Given the description of an element on the screen output the (x, y) to click on. 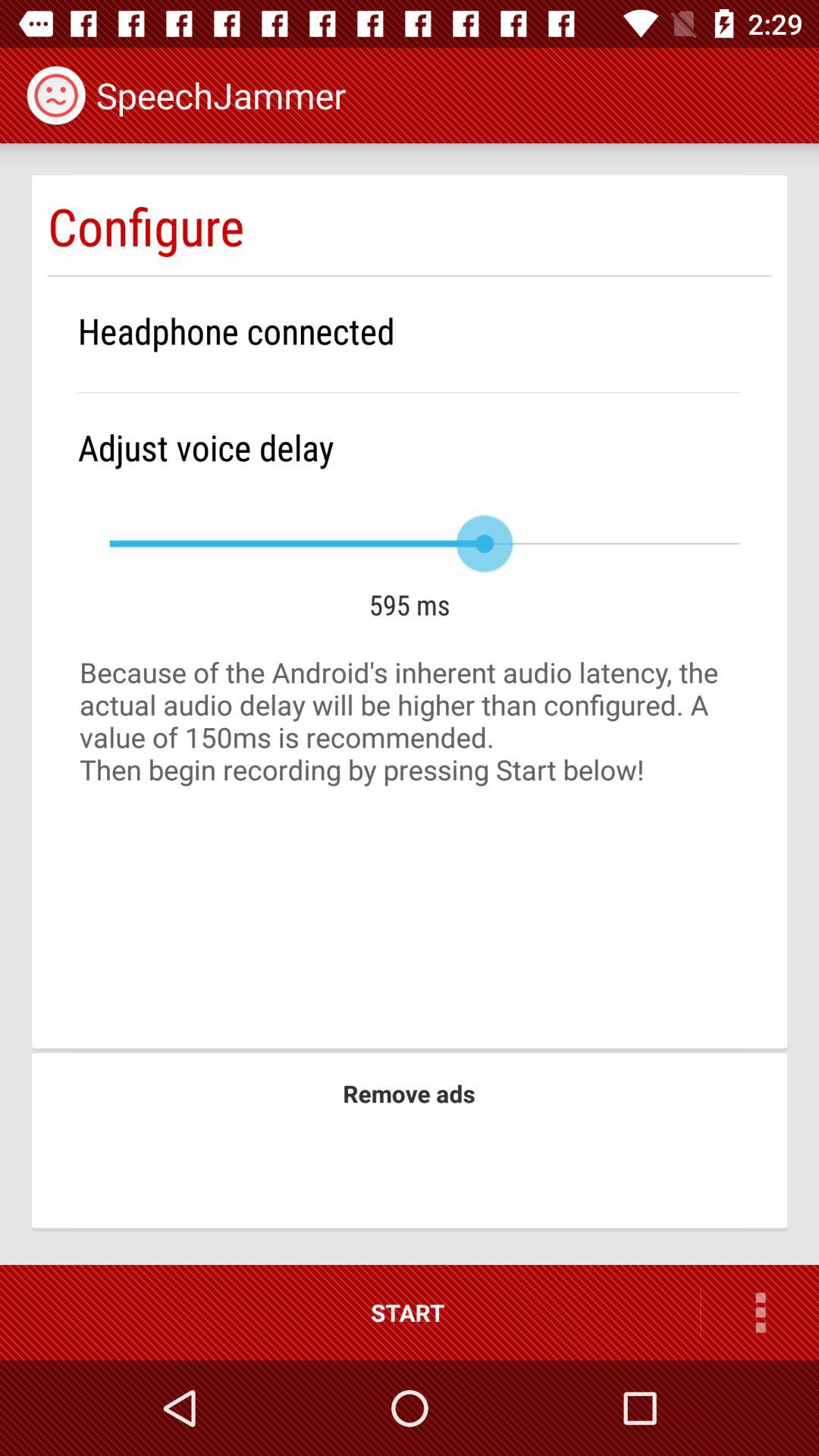
turn on item below because of the icon (408, 1093)
